Given the description of an element on the screen output the (x, y) to click on. 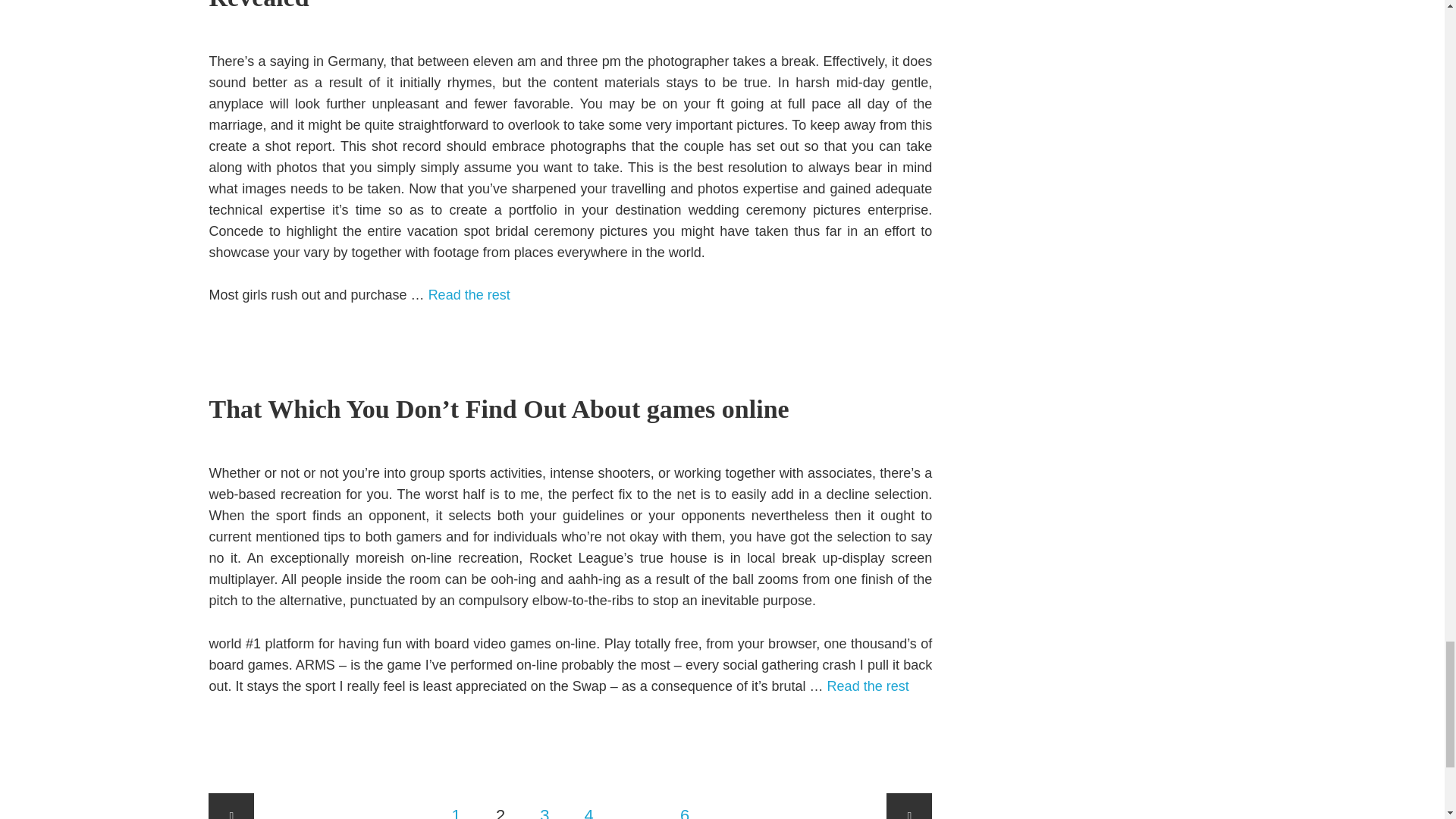
Previous (230, 806)
Read the rest (867, 685)
Read the rest (469, 294)
Next (908, 806)
